Given the description of an element on the screen output the (x, y) to click on. 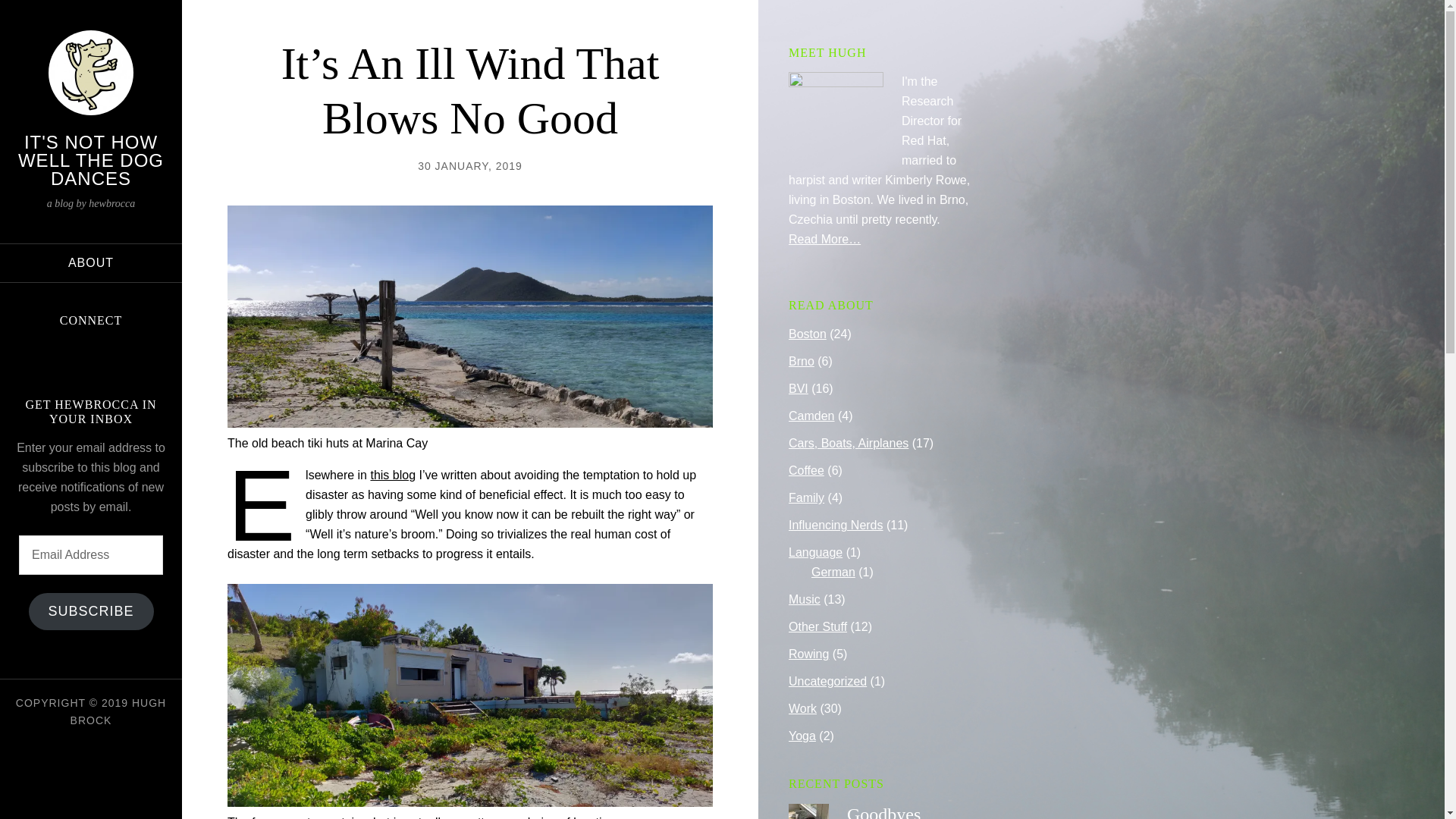
Boston (808, 333)
Cars, Boats, Airplanes (848, 442)
ABOUT (91, 262)
Music (805, 599)
IT'S NOT HOW WELL THE DOG DANCES (90, 160)
Yoga (802, 735)
SUBSCRIBE (91, 610)
Other Stuff (818, 626)
Work (802, 707)
German (833, 571)
this blog (391, 474)
Goodbyes (883, 811)
Uncategorized (827, 680)
Rowing (808, 653)
Language (816, 552)
